Given the description of an element on the screen output the (x, y) to click on. 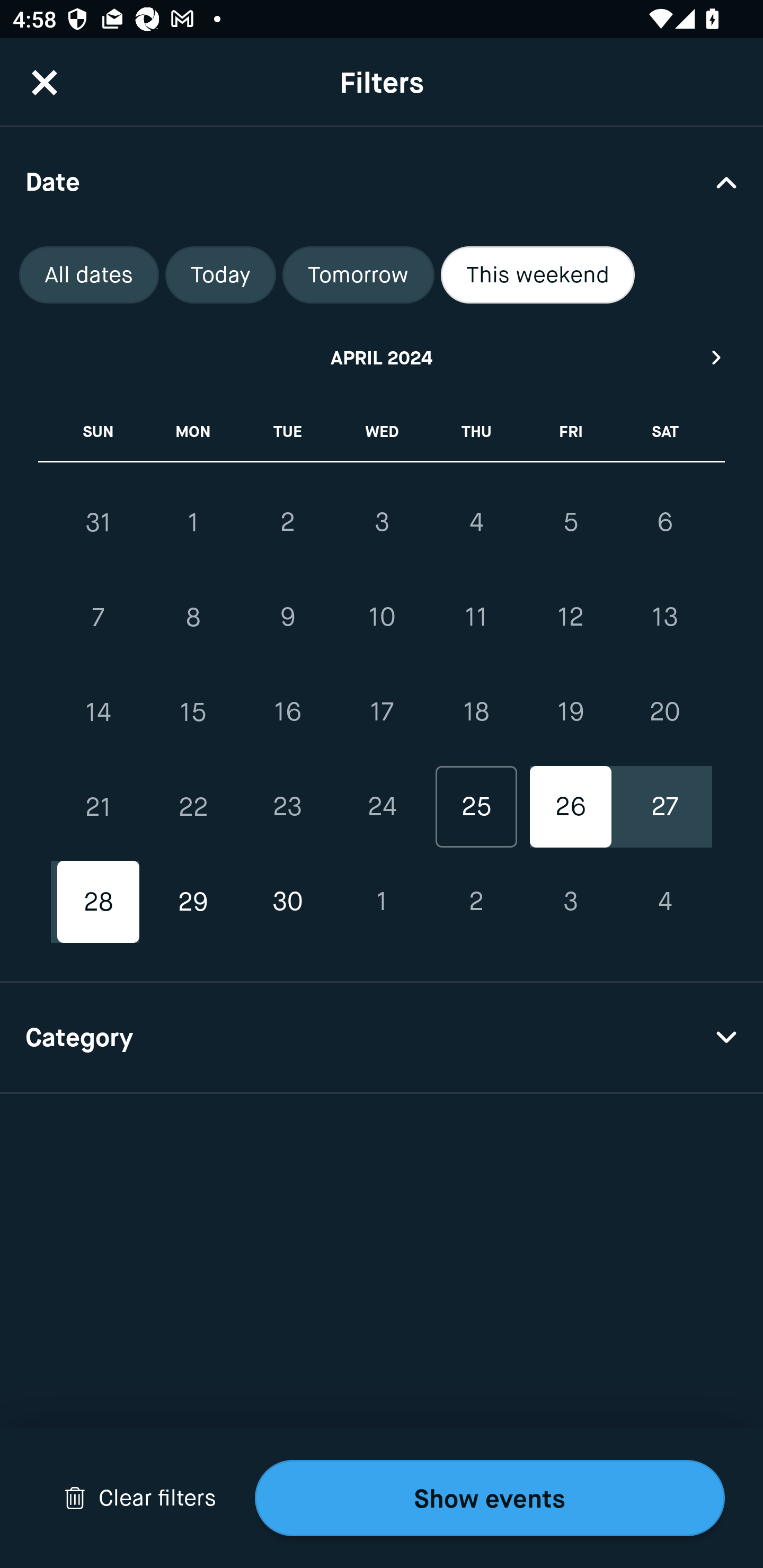
CloseButton (44, 82)
Date Drop Down Arrow (381, 181)
All dates (88, 274)
Today (220, 274)
Tomorrow (358, 274)
This weekend (537, 274)
Next (717, 357)
31 (98, 522)
1 (192, 522)
2 (287, 522)
3 (381, 522)
4 (475, 522)
5 (570, 522)
6 (664, 522)
7 (98, 617)
8 (192, 617)
9 (287, 617)
10 (381, 617)
11 (475, 617)
12 (570, 617)
13 (664, 617)
14 (98, 711)
15 (192, 711)
16 (287, 711)
17 (381, 711)
18 (475, 711)
19 (570, 711)
20 (664, 711)
21 (98, 806)
22 (192, 806)
23 (287, 806)
24 (381, 806)
25 (475, 806)
26 (570, 806)
27 (664, 806)
28 (98, 901)
29 (192, 901)
30 (287, 901)
1 (381, 901)
2 (475, 901)
3 (570, 901)
4 (664, 901)
Category Drop Down Arrow (381, 1038)
Drop Down Arrow Clear filters (139, 1497)
Show events (489, 1497)
